Given the description of an element on the screen output the (x, y) to click on. 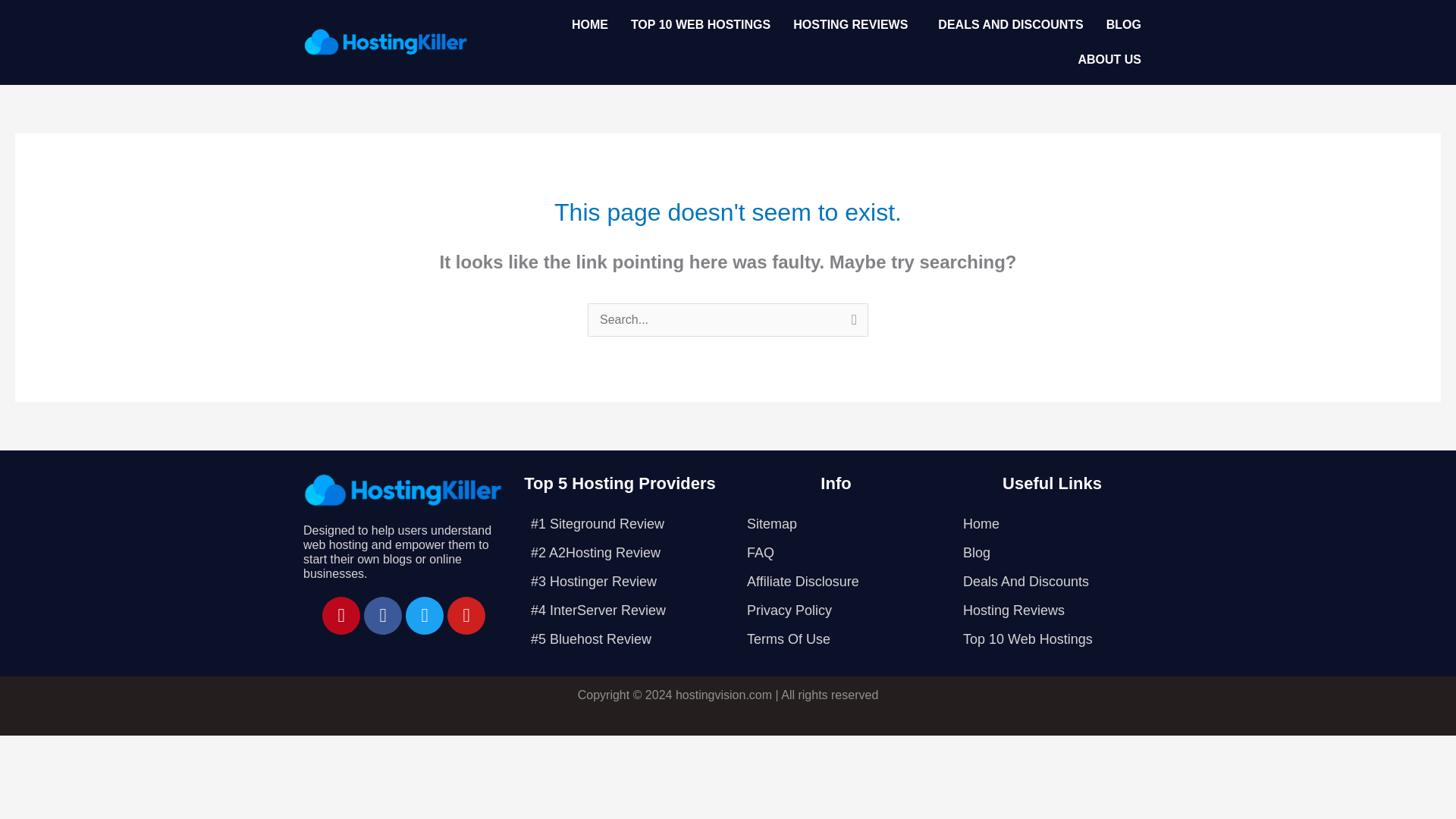
Facebook (382, 614)
Twitter (425, 614)
Deals And Discounts (1052, 581)
Home (1052, 523)
Affiliate Disclosure (835, 581)
TOP 10 WEB HOSTINGS (700, 24)
Top 10 Web Hostings (1052, 638)
Hosting Reviews (1052, 610)
DEALS AND DISCOUNTS (1010, 24)
HOSTING REVIEWS (853, 24)
Privacy Policy (835, 610)
Sitemap (835, 523)
BLOG (1123, 24)
Terms Of Use (835, 638)
HOME (590, 24)
